Given the description of an element on the screen output the (x, y) to click on. 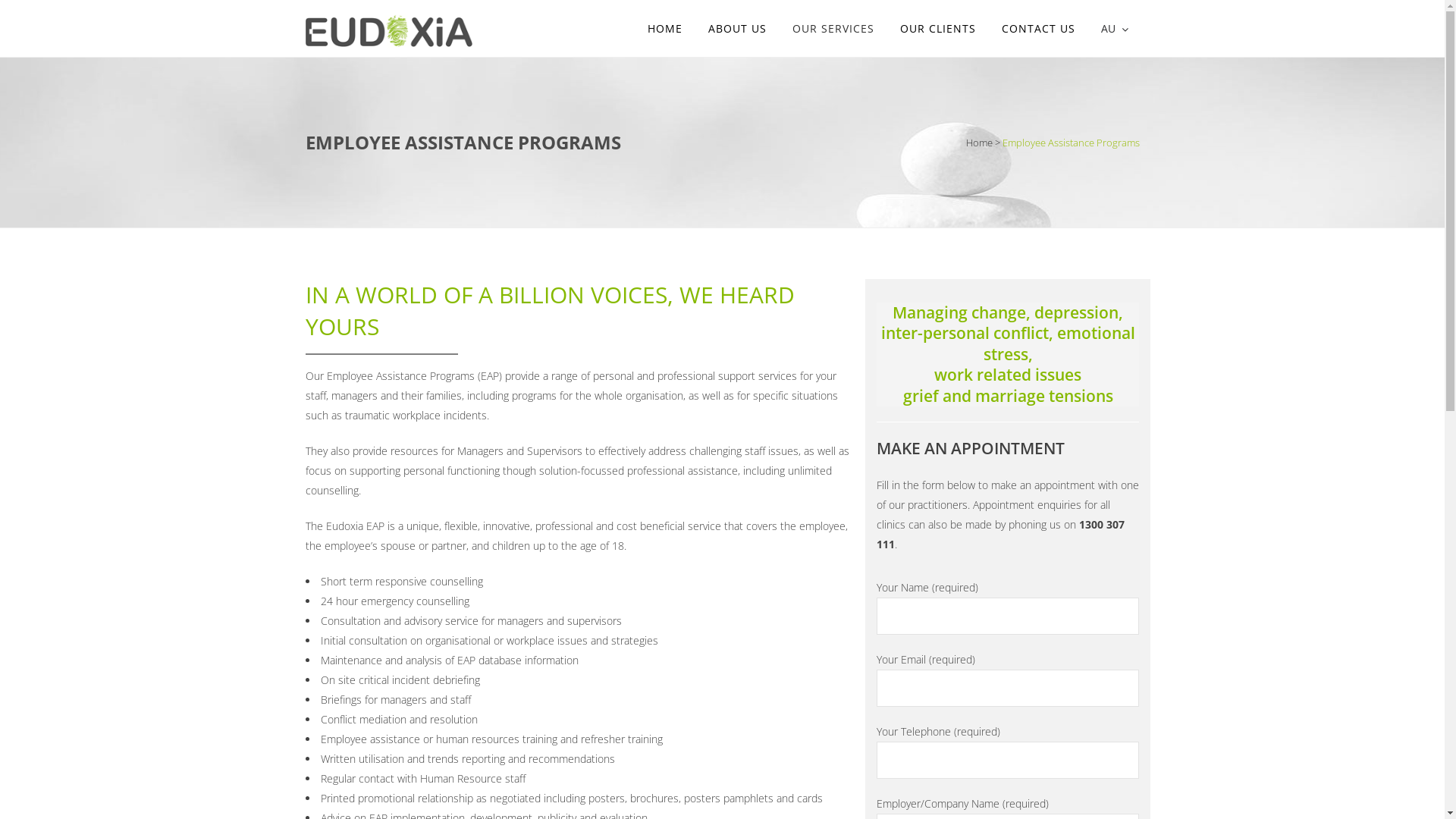
Home Element type: text (979, 141)
OUR SERVICES Element type: text (833, 28)
HOME Element type: text (663, 28)
OUR CLIENTS Element type: text (937, 28)
AU Element type: text (1113, 28)
CONTACT US Element type: text (1038, 28)
ABOUT US Element type: text (736, 28)
